Given the description of an element on the screen output the (x, y) to click on. 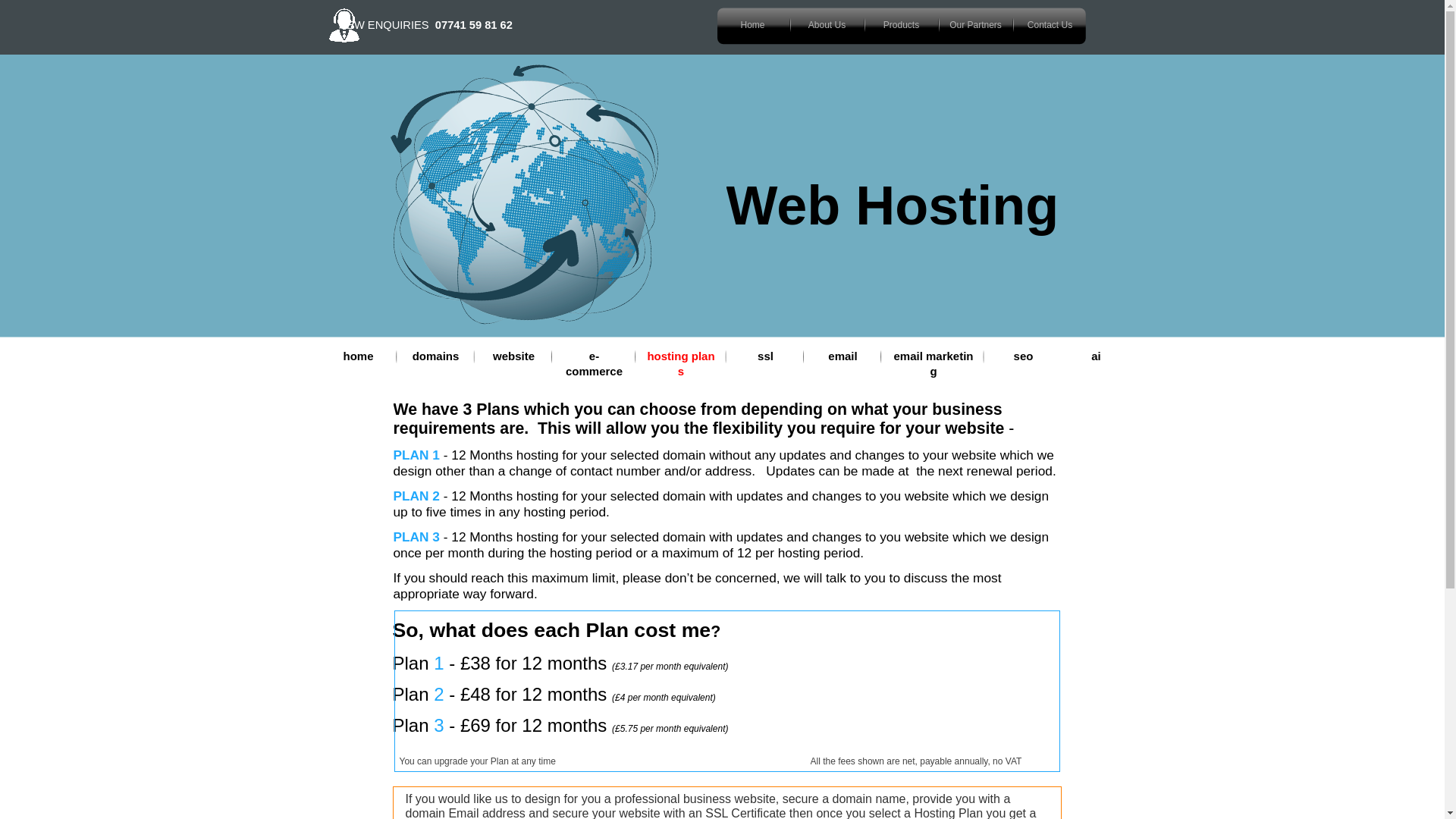
website (512, 356)
hosting plans (679, 356)
email marketing (932, 356)
ai (1094, 356)
email (841, 356)
Contact Us (1049, 24)
seo (1021, 356)
home (357, 356)
ssl (764, 356)
e-commerce (592, 356)
domains (434, 356)
Products (900, 24)
About Us (826, 24)
Home (752, 24)
Our Partners (975, 24)
